Given the description of an element on the screen output the (x, y) to click on. 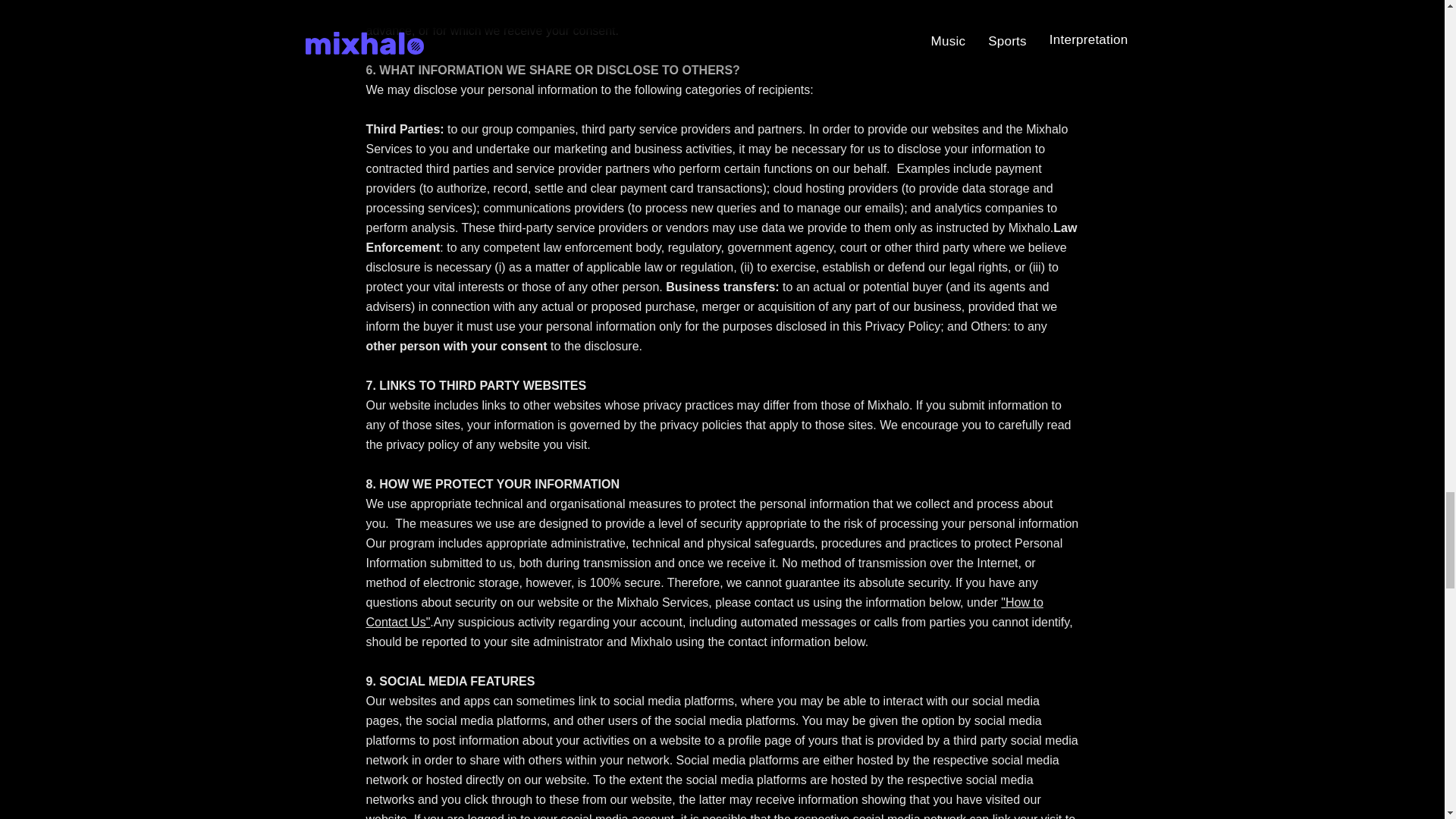
"How to Contact Us" (703, 612)
